Given the description of an element on the screen output the (x, y) to click on. 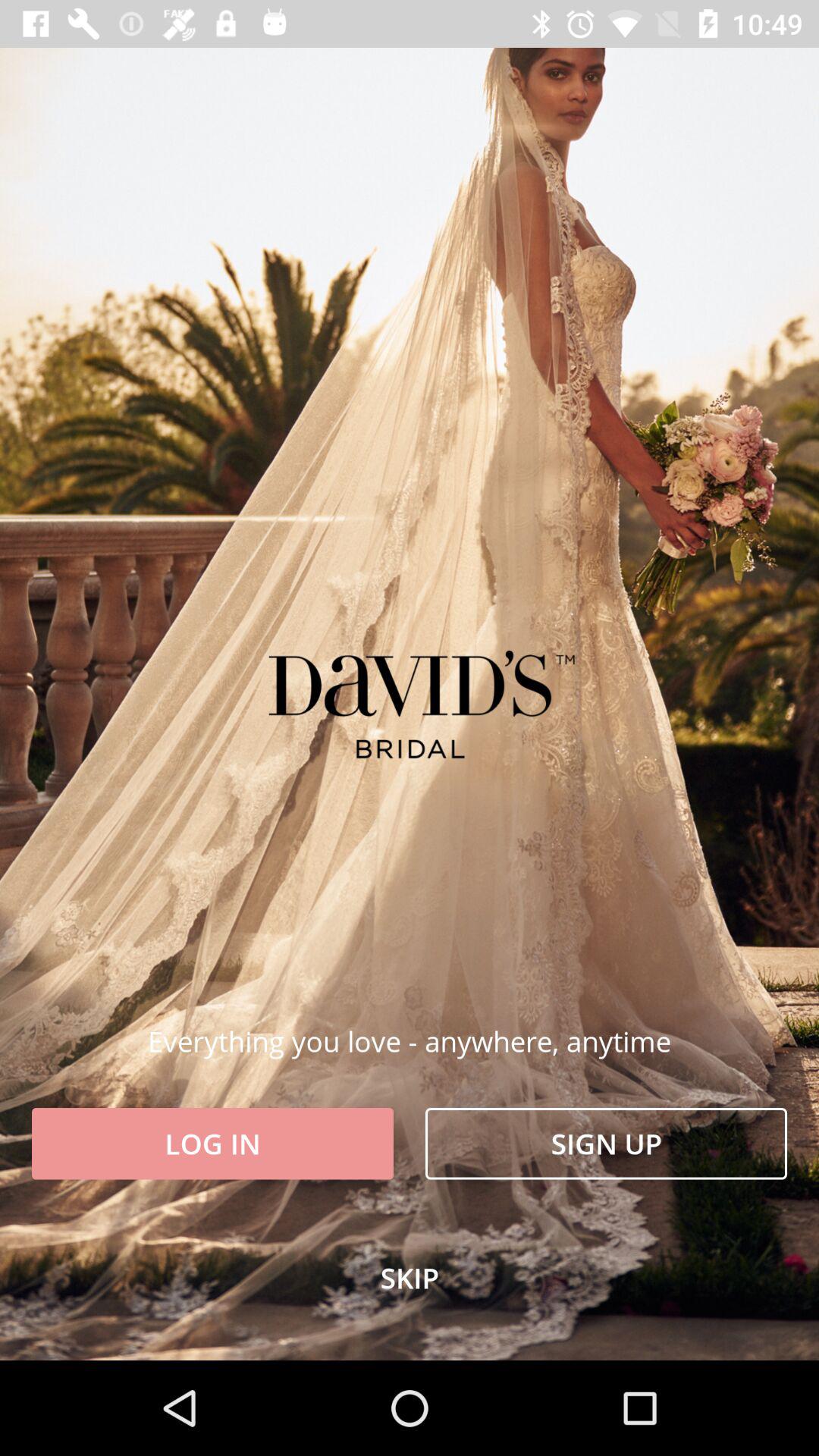
select the sign up item (606, 1143)
